Given the description of an element on the screen output the (x, y) to click on. 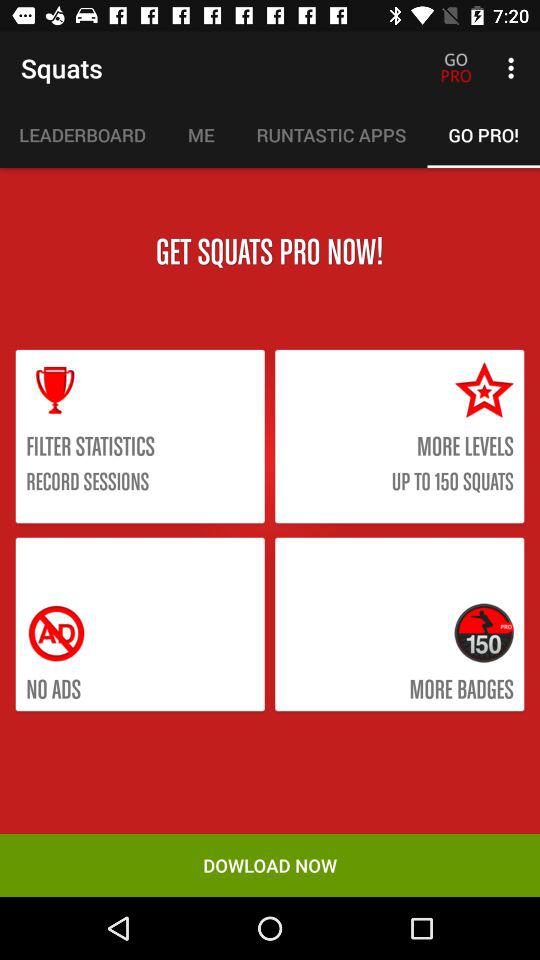
launch dowload now (270, 864)
